Given the description of an element on the screen output the (x, y) to click on. 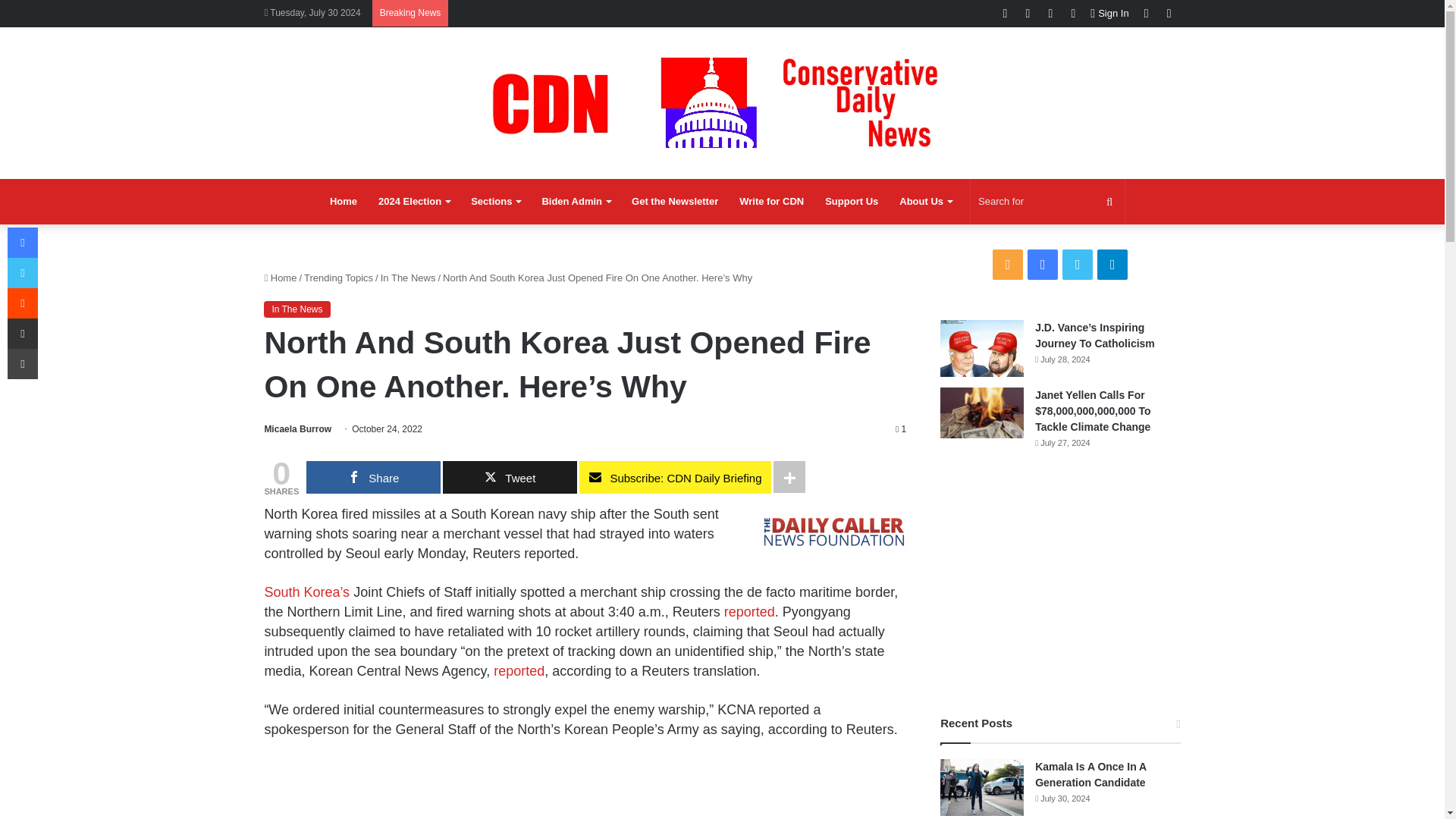
Sections (495, 201)
Micaela Burrow (297, 429)
Become a CDN Contributor (771, 201)
Conservative Daily News (721, 102)
Support CDN With a Small Donation (850, 201)
Get the Newsletter (675, 201)
Search for (1047, 201)
Biden Admin (576, 201)
Home (343, 201)
2024 Election (414, 201)
